Given the description of an element on the screen output the (x, y) to click on. 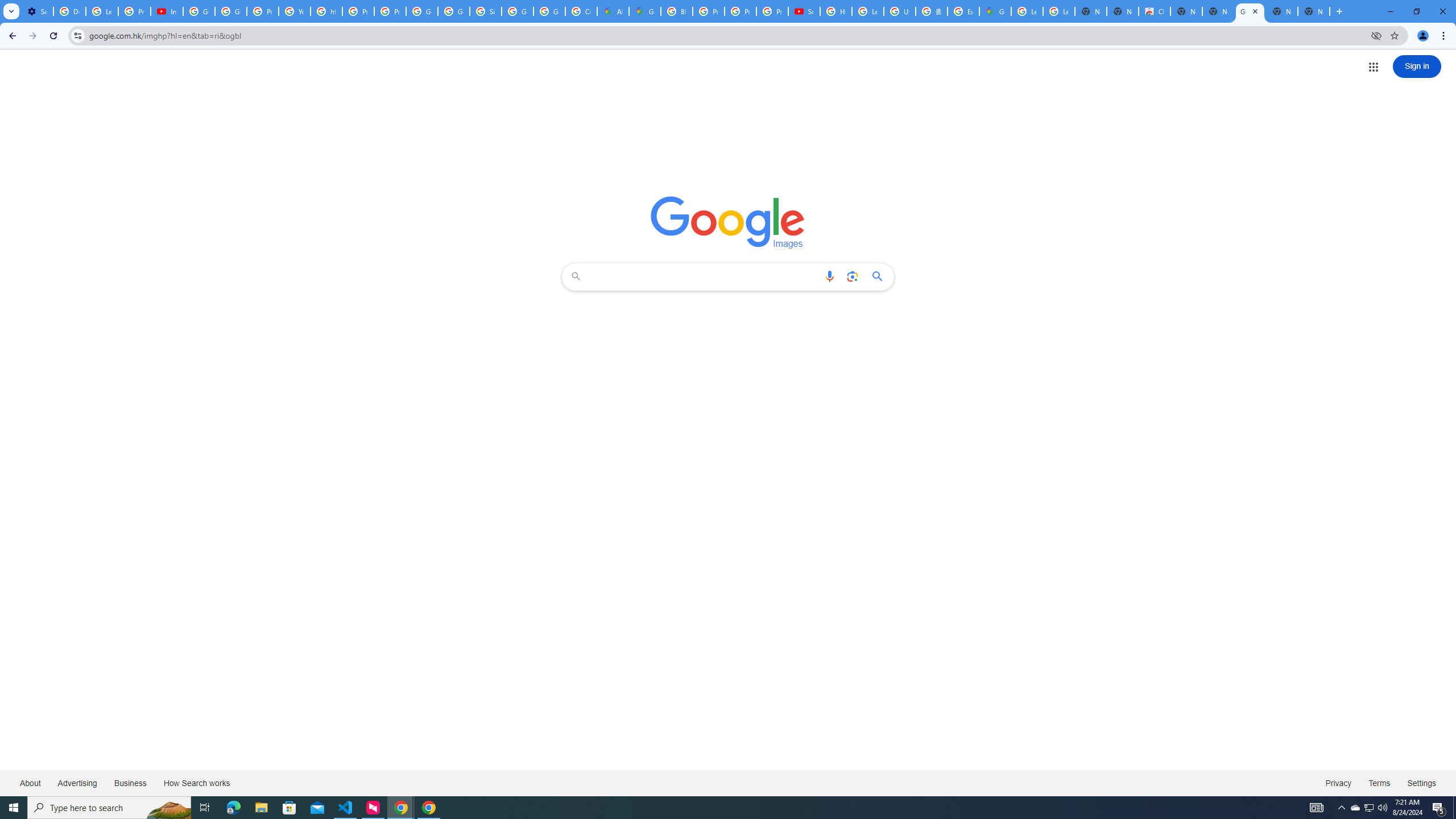
Google Maps (995, 11)
New Tab (1313, 11)
Advertising (77, 782)
How Chrome protects your passwords - Google Chrome Help (836, 11)
Settings - Customize profile (37, 11)
How Search works (196, 782)
Google Account Help (198, 11)
YouTube (294, 11)
Business (129, 782)
